Given the description of an element on the screen output the (x, y) to click on. 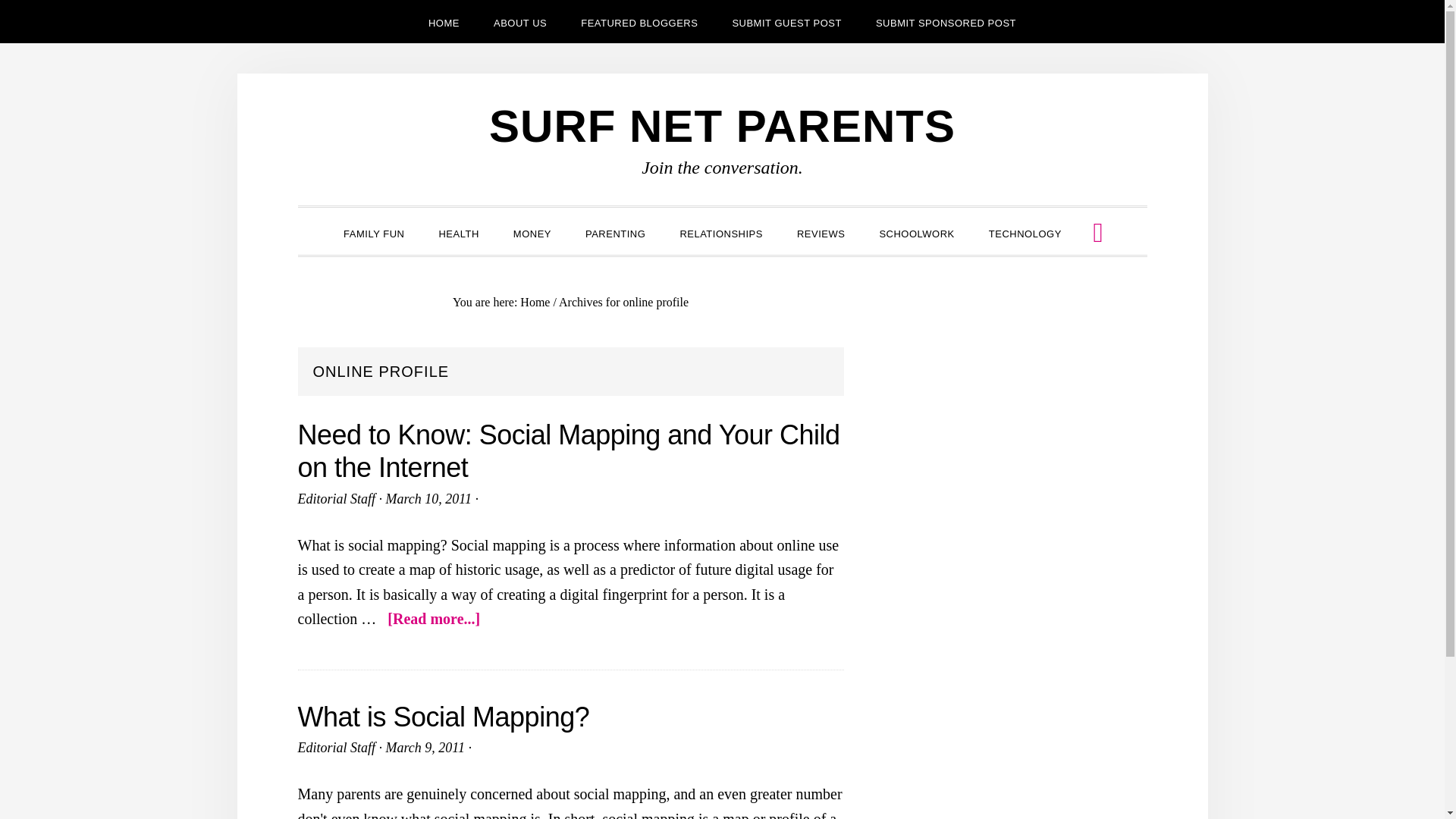
SUBMIT GUEST POST (786, 21)
PARENTING (615, 231)
SUBMIT SPONSORED POST (945, 21)
FEATURED BLOGGERS (639, 21)
HOME (443, 21)
MONEY (531, 231)
ABOUT US (520, 21)
HEALTH (458, 231)
FAMILY FUN (374, 231)
